Given the description of an element on the screen output the (x, y) to click on. 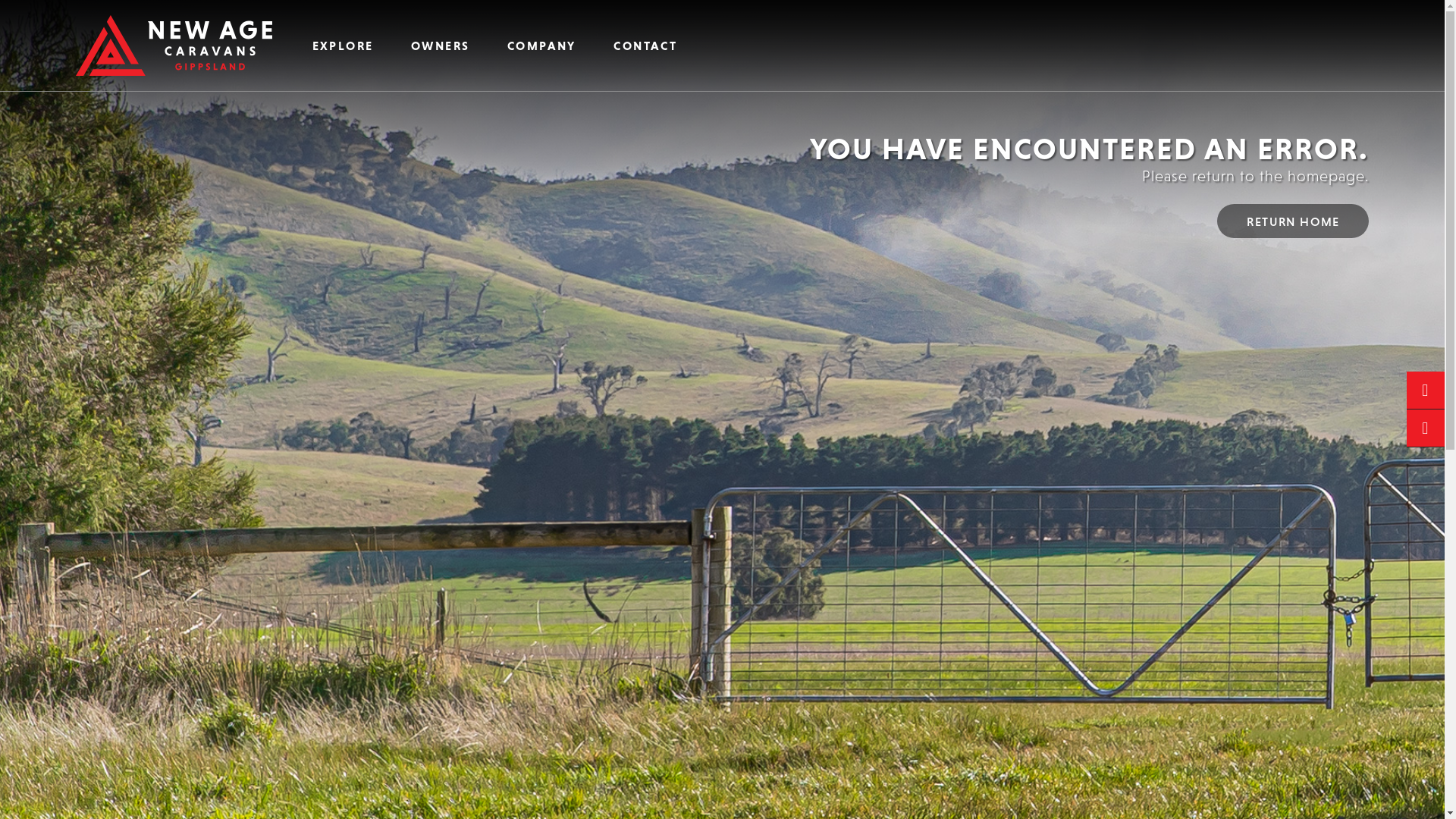
COMPANY Element type: text (541, 45)
RETURN HOME Element type: text (1292, 220)
CONTACT Element type: text (645, 45)
EXPLORE Element type: text (342, 45)
OWNERS Element type: text (440, 45)
